Given the description of an element on the screen output the (x, y) to click on. 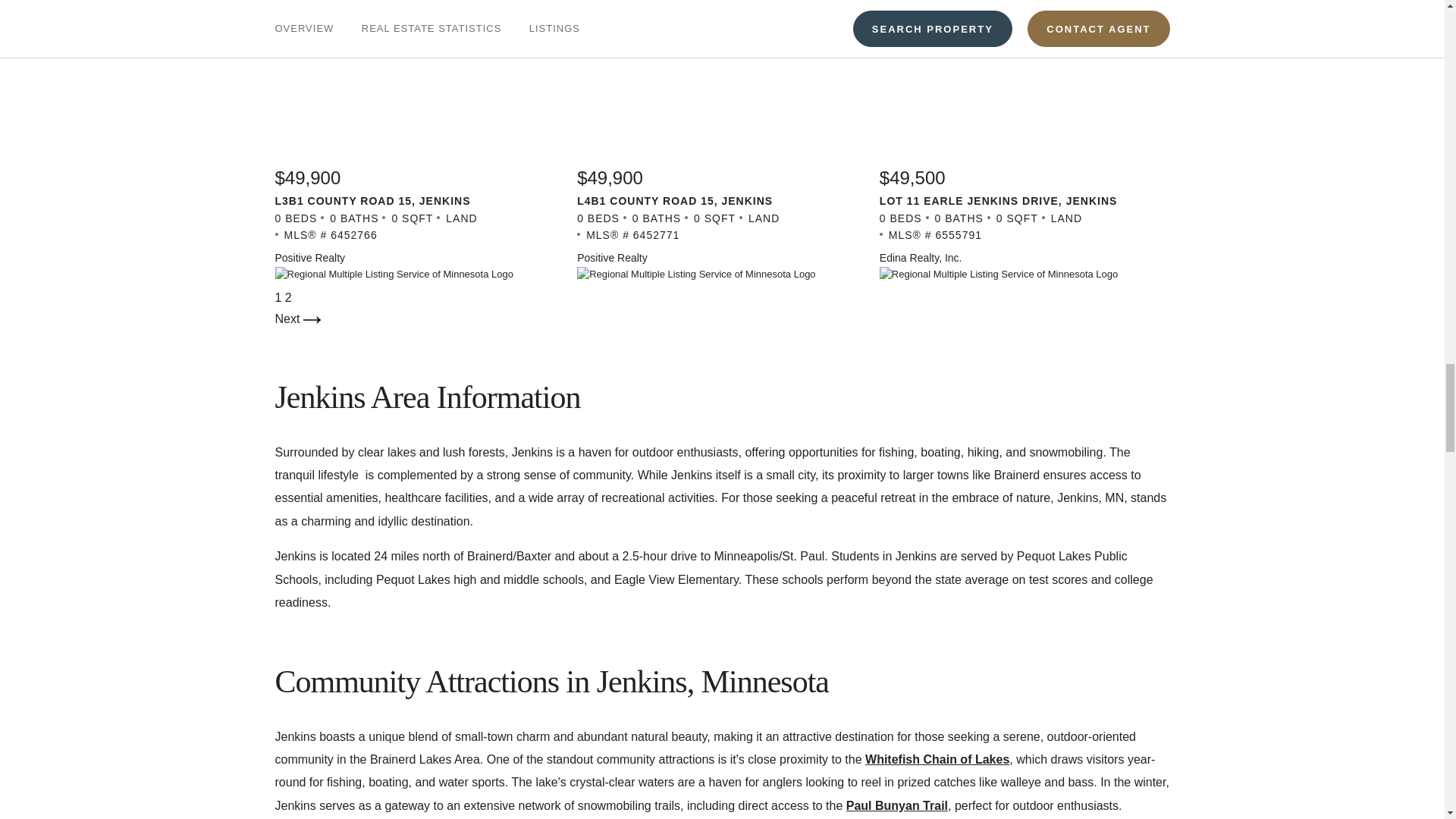
Current Page is 2 (288, 297)
Current Page is 1 (279, 297)
Next Page (297, 318)
